Given the description of an element on the screen output the (x, y) to click on. 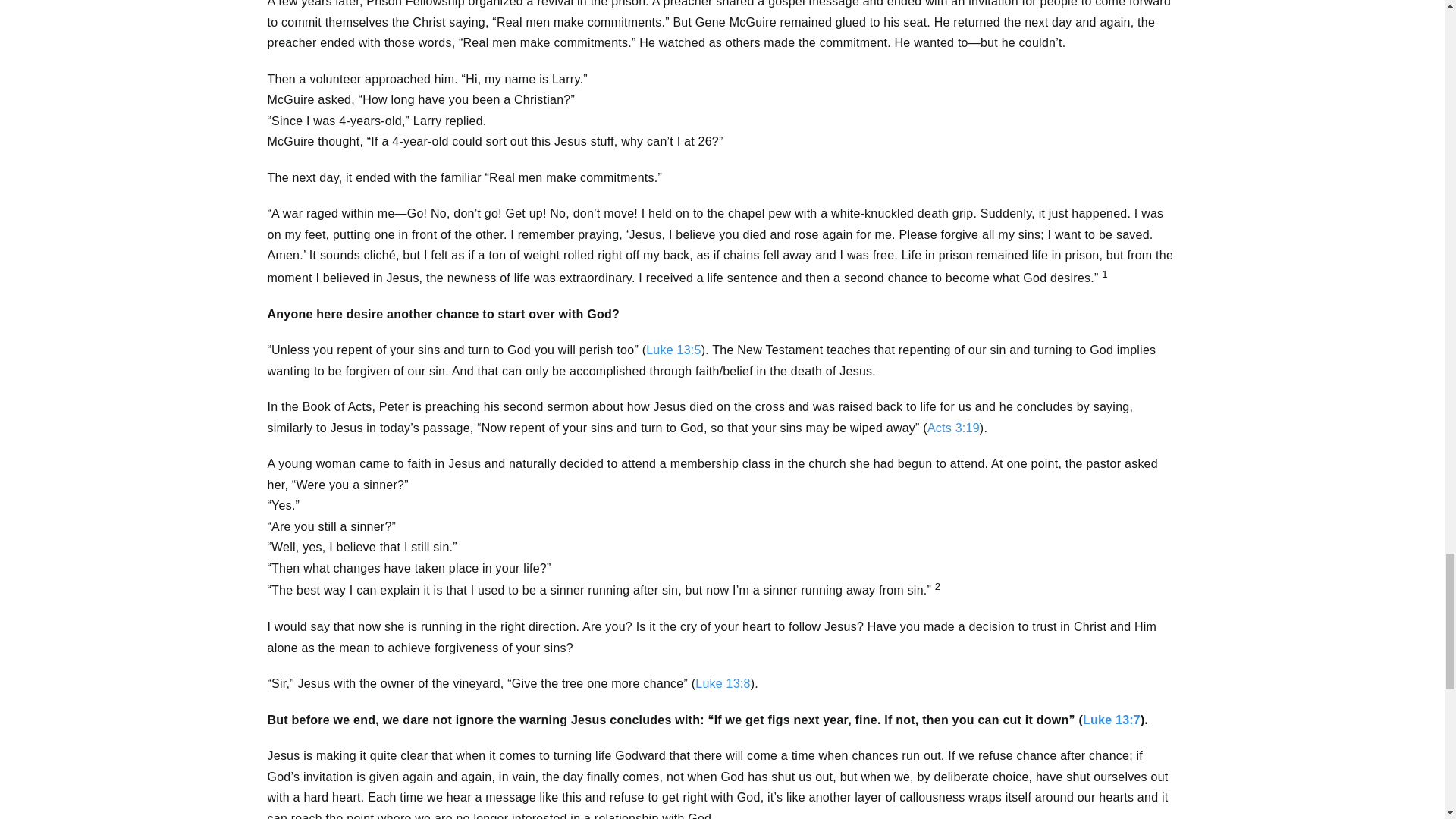
Acts 3:19 (953, 427)
Luke 13:5 (673, 349)
Luke 13:8 (722, 683)
Luke 13:7 (1111, 719)
